Given the description of an element on the screen output the (x, y) to click on. 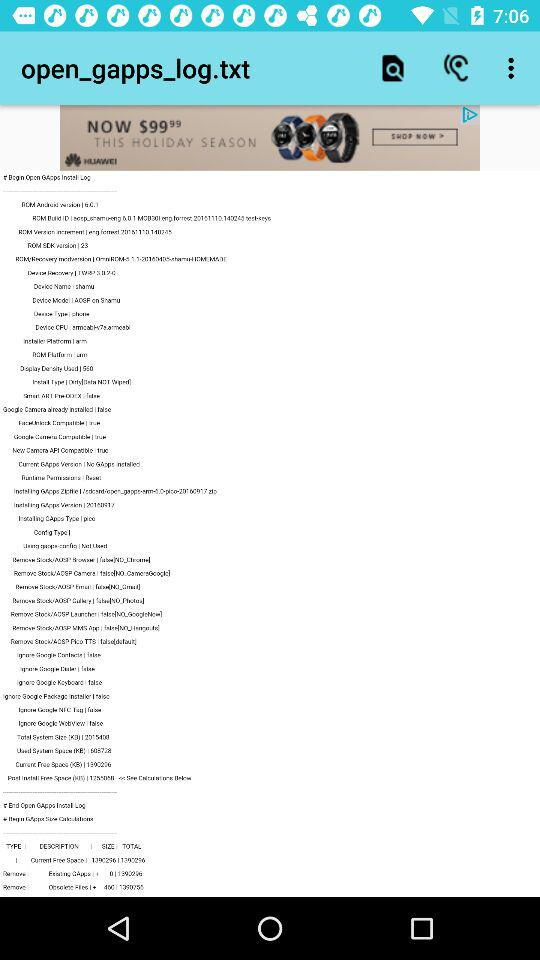
visit advertised site (270, 137)
